Given the description of an element on the screen output the (x, y) to click on. 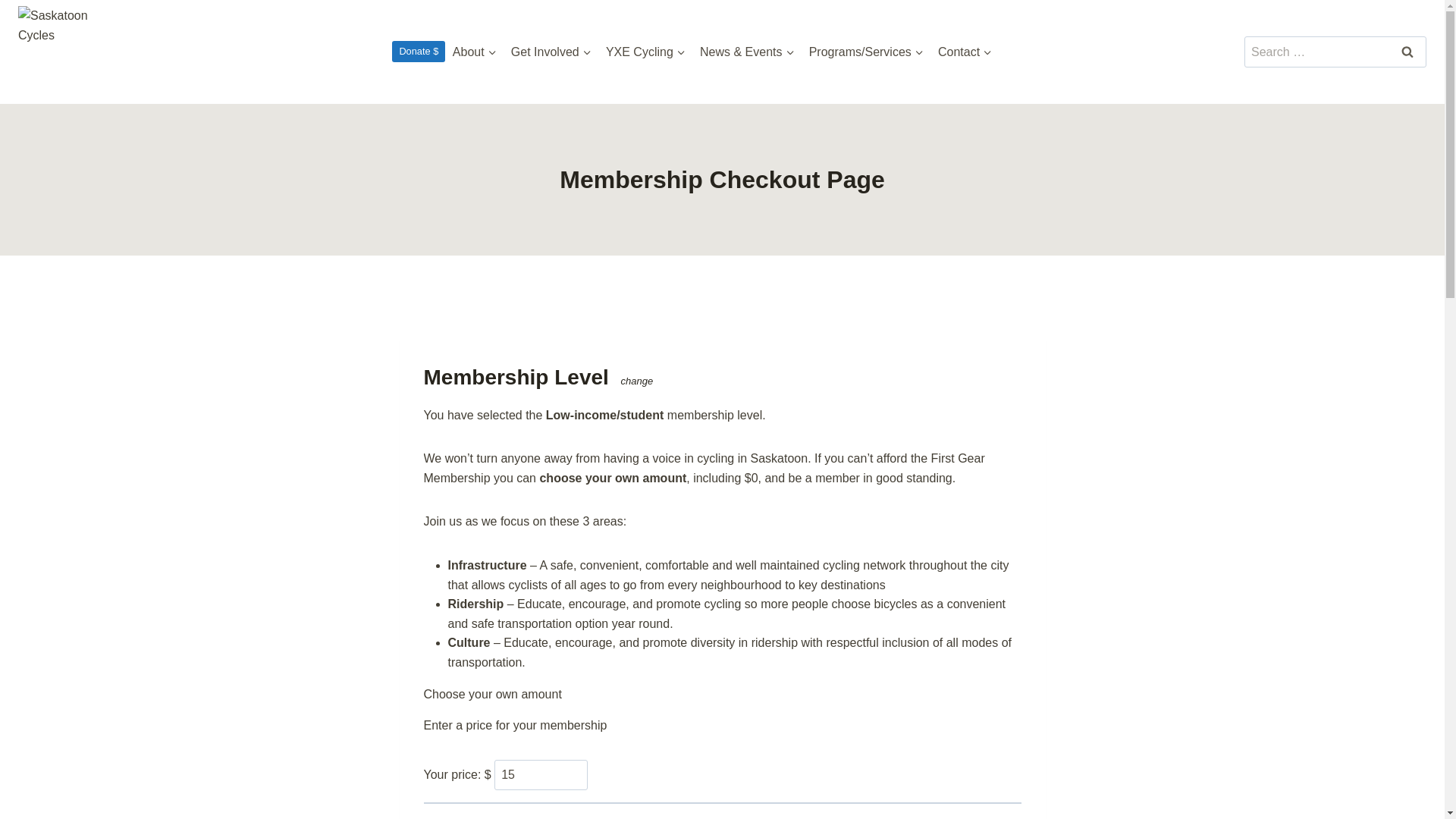
Get Involved (550, 51)
About (474, 51)
Search (1407, 51)
YXE Cycling (645, 51)
Search (1407, 51)
15 (541, 775)
